Given the description of an element on the screen output the (x, y) to click on. 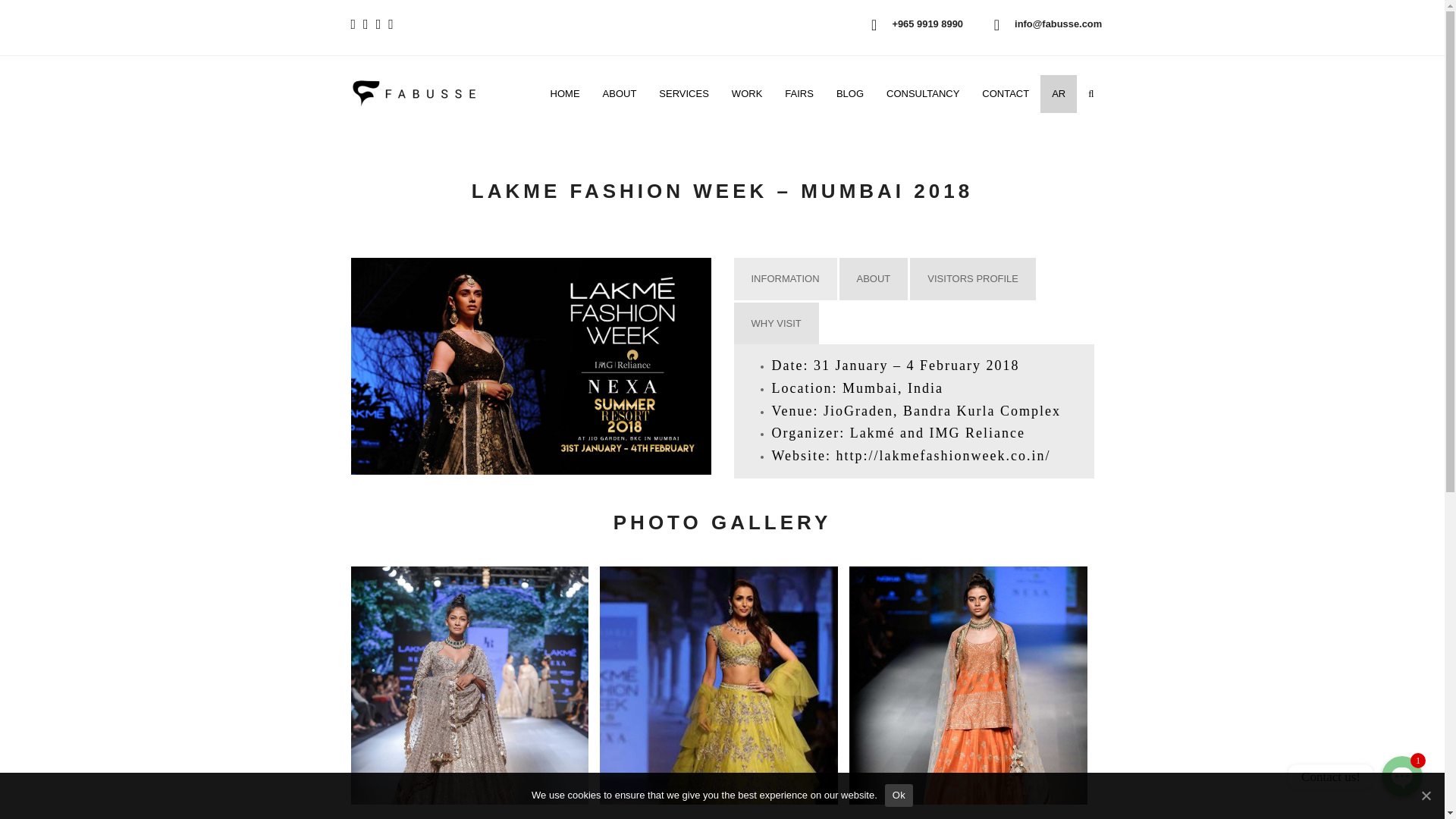
WHY VISIT (775, 322)
VISITORS PROFILE (972, 278)
WORK (746, 94)
FAIRS (799, 94)
AR (1059, 94)
CONSULTANCY (923, 94)
ABOUT (874, 278)
CONTACT (1006, 94)
HOME (564, 94)
BLOG (850, 94)
SERVICES (683, 94)
AR (1059, 94)
INFORMATION (785, 278)
ABOUT (619, 94)
